Given the description of an element on the screen output the (x, y) to click on. 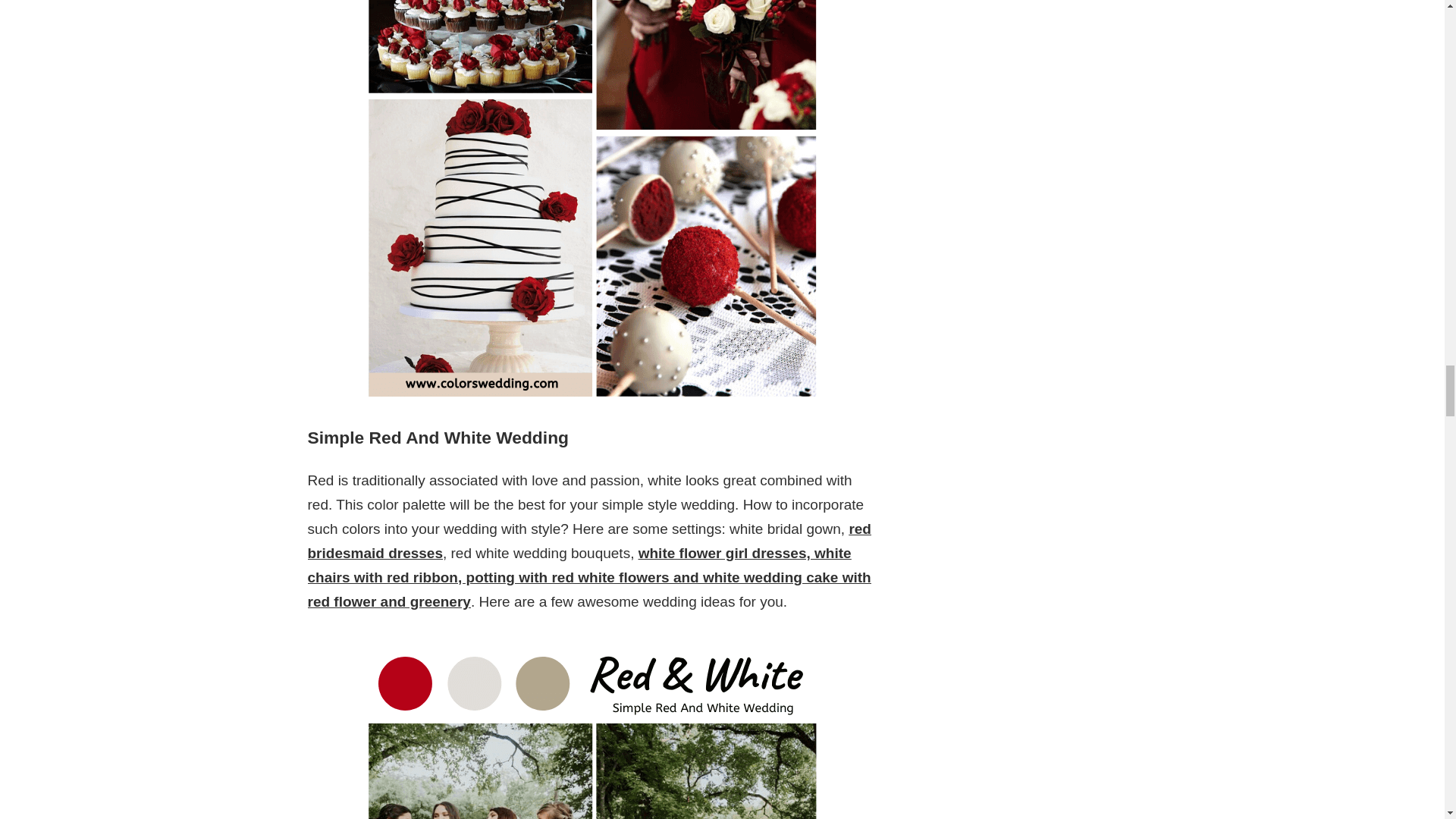
red bridesmaid dresses (588, 540)
